Given the description of an element on the screen output the (x, y) to click on. 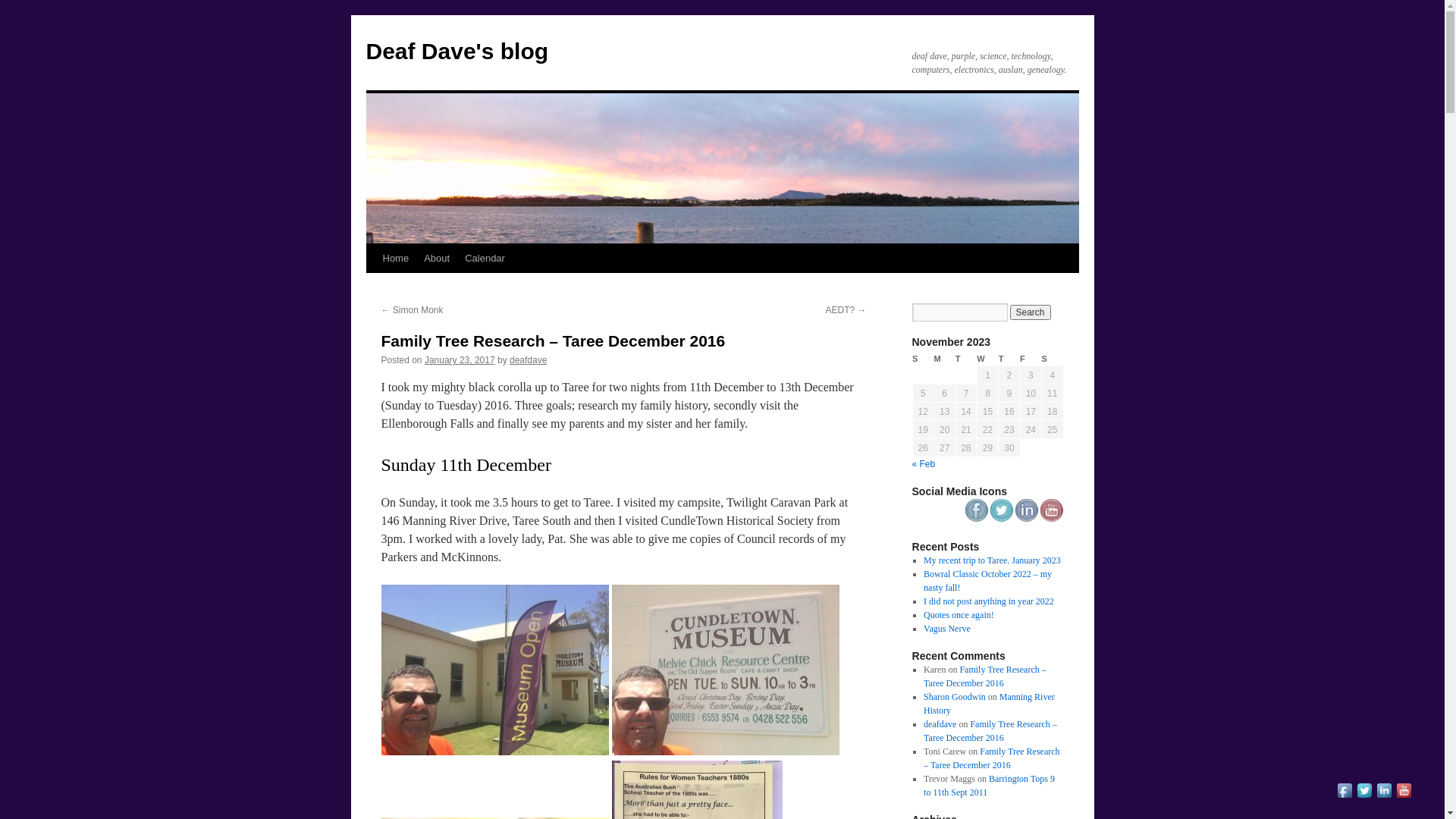
Sharon Goodwin Element type: text (954, 696)
Visit Us On Youtube Element type: hover (1050, 519)
Skip to content Element type: text (372, 286)
I did not post anything in year 2022 Element type: text (988, 601)
Visit Us On Linkedin Element type: hover (1025, 519)
deafdave Element type: text (527, 359)
Manning River History Element type: text (988, 703)
Home Element type: text (395, 258)
Visit Us On Youtube Element type: hover (1403, 796)
About Element type: text (436, 258)
Visit Us On Twitter Element type: hover (1364, 796)
Visit Us On Facebook Element type: hover (975, 519)
Deaf Dave's blog Element type: text (456, 50)
Visit Us On Facebook Element type: hover (1344, 796)
Vagus Nerve Element type: text (946, 628)
January 23, 2017 Element type: text (459, 359)
Search Element type: text (1030, 312)
My recent trip to Taree. January 2023 Element type: text (991, 560)
Quotes once again! Element type: text (958, 614)
deafdave Element type: text (939, 723)
Calendar Element type: text (484, 258)
Visit Us On Twitter Element type: hover (1000, 519)
Barrington Tops 9 to 11th Sept 2011 Element type: text (988, 785)
Visit Us On Linkedin Element type: hover (1383, 796)
